Given the description of an element on the screen output the (x, y) to click on. 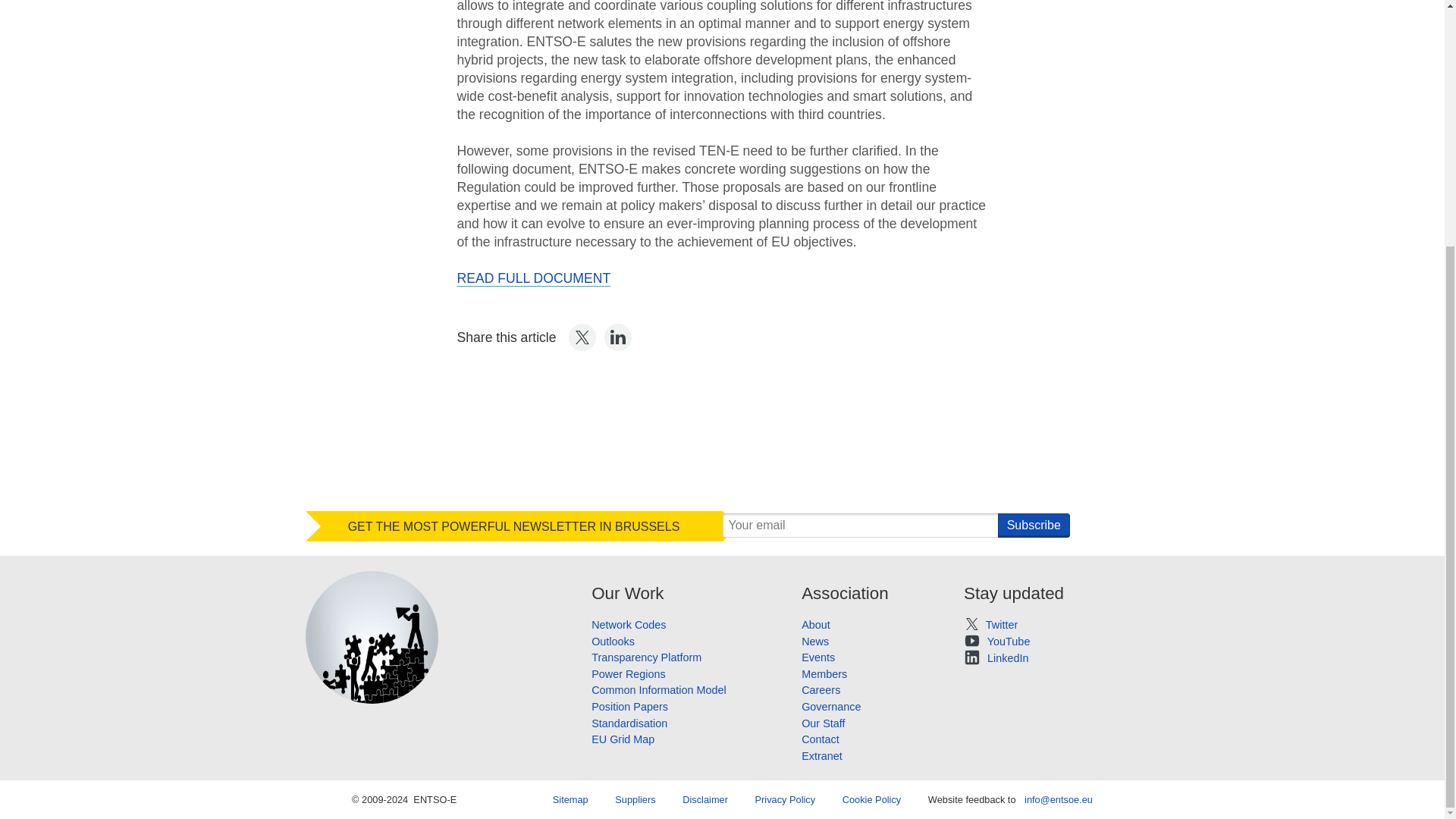
Subscribe (1033, 525)
